Given the description of an element on the screen output the (x, y) to click on. 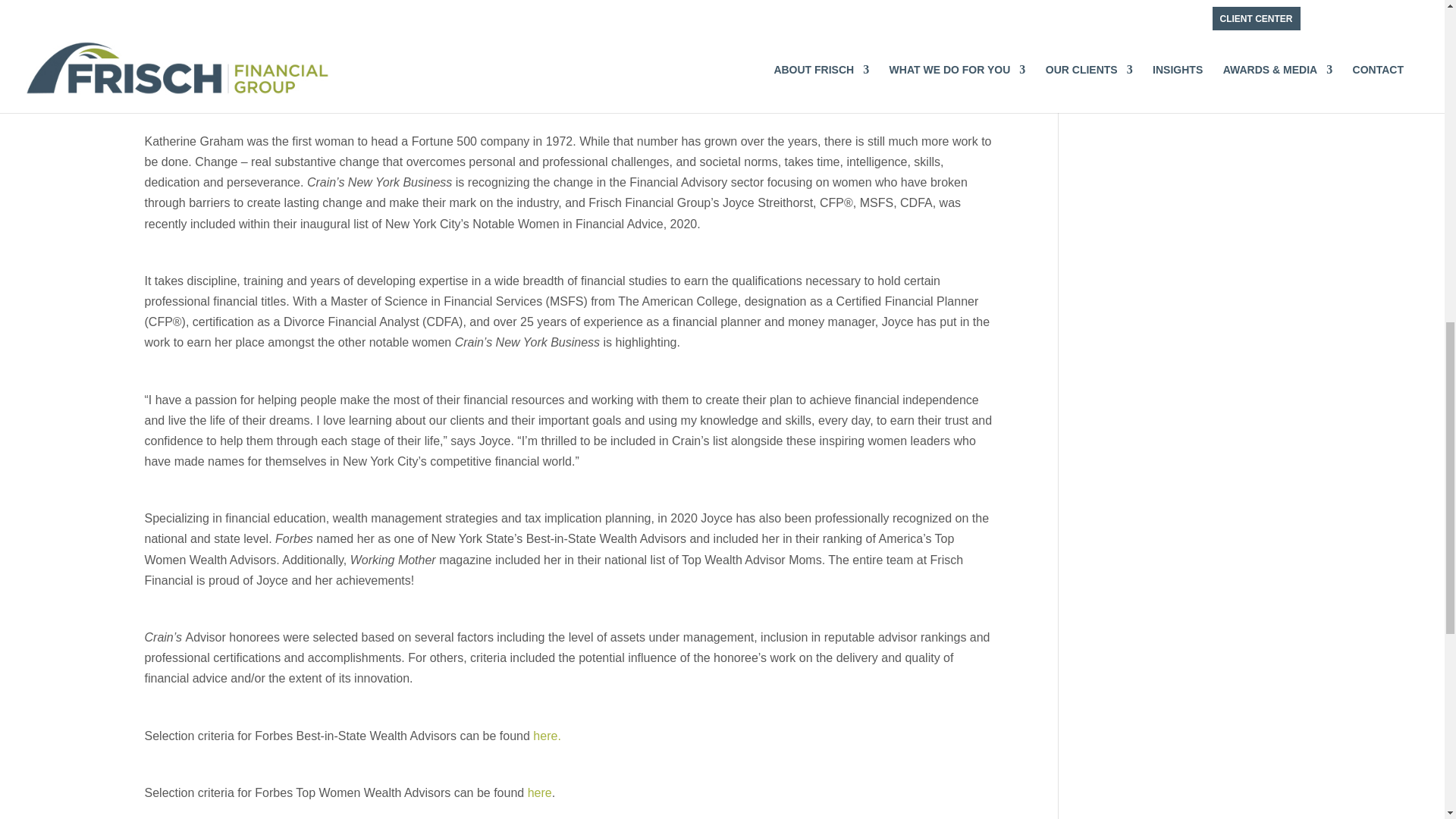
here (539, 792)
here. (544, 735)
